Given the description of an element on the screen output the (x, y) to click on. 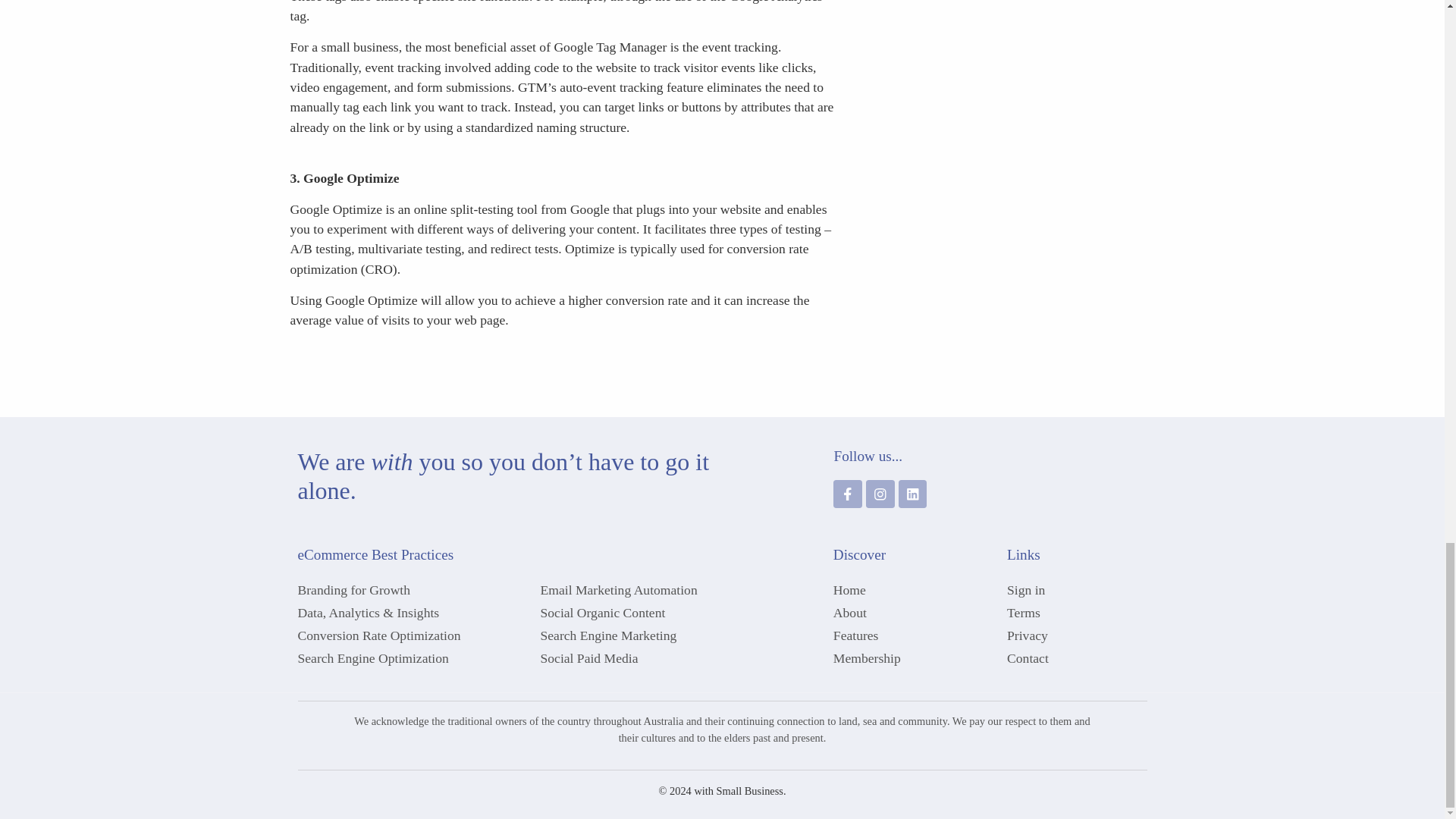
Conversion Rate Optimization (411, 635)
Branding for Growth (411, 589)
Search Engine Optimization (411, 658)
